Given the description of an element on the screen output the (x, y) to click on. 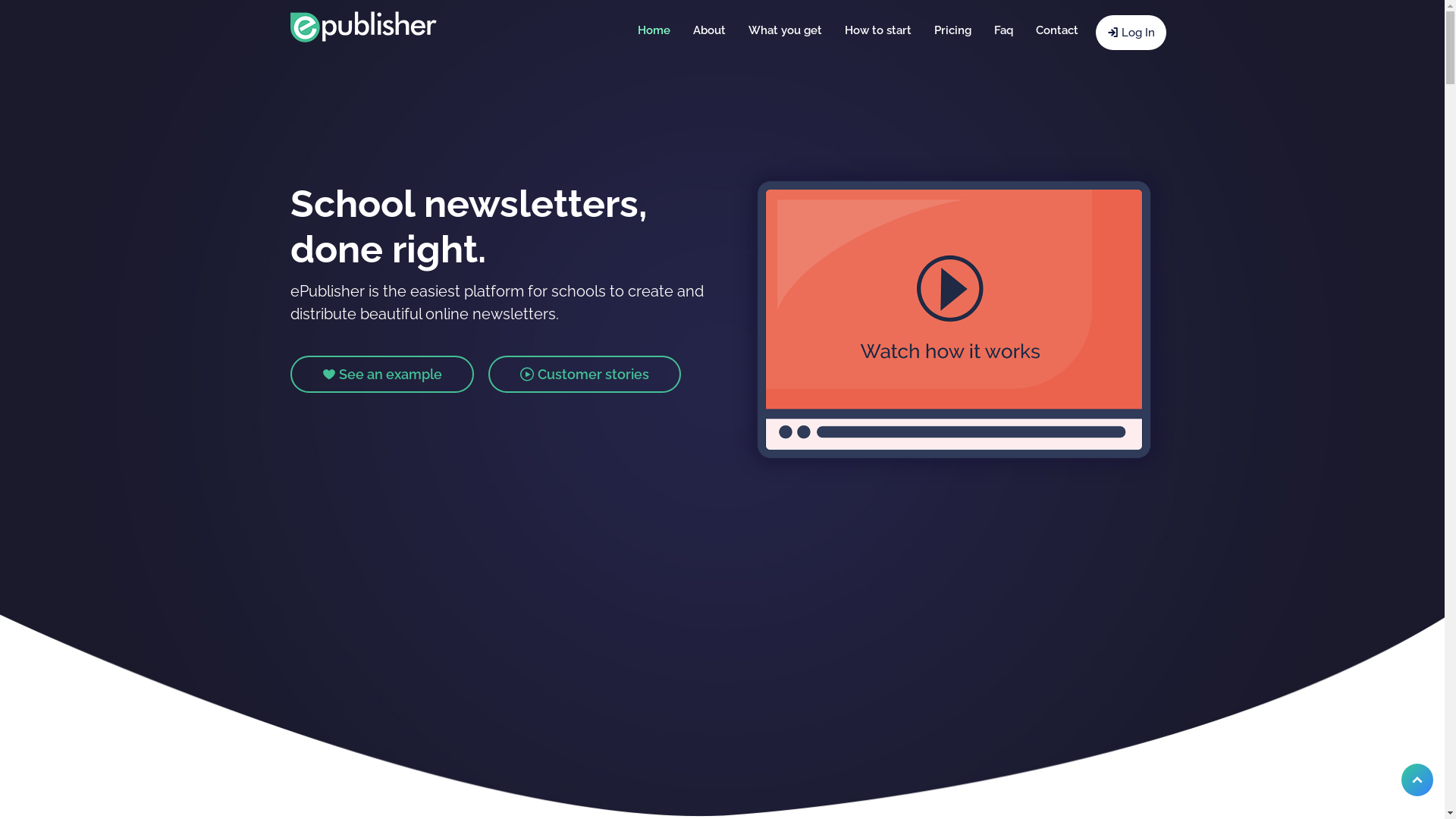
What you get Element type: text (785, 30)
About Element type: text (708, 30)
Contact Element type: text (1055, 30)
See an example Element type: text (381, 374)
Faq Element type: text (1003, 30)
Pricing Element type: text (952, 30)
Customer stories Element type: text (584, 374)
Log In Element type: text (1130, 32)
Home Element type: text (653, 30)
How to start Element type: text (877, 30)
